Given the description of an element on the screen output the (x, y) to click on. 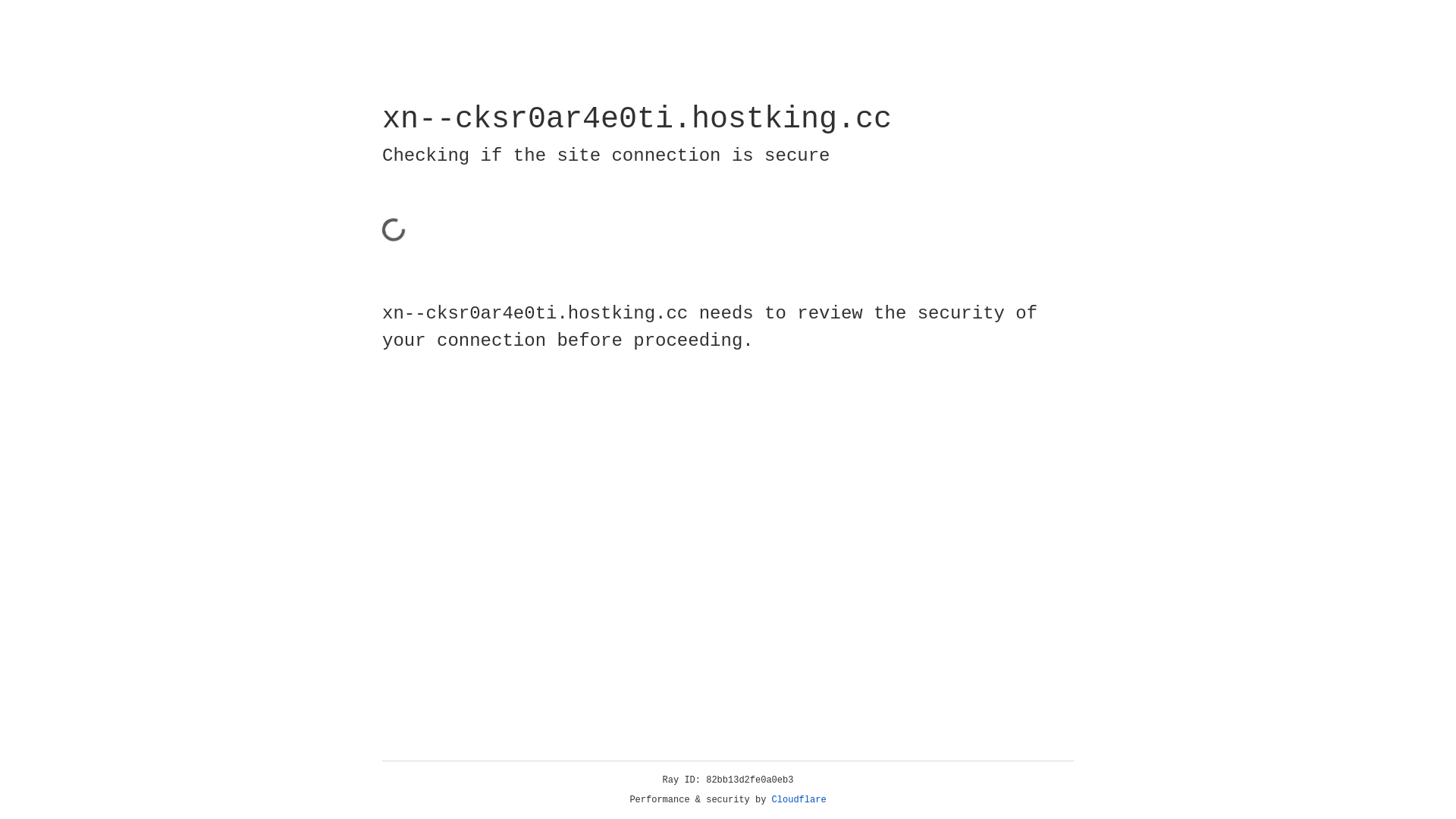
Cloudflare Element type: text (798, 799)
